Given the description of an element on the screen output the (x, y) to click on. 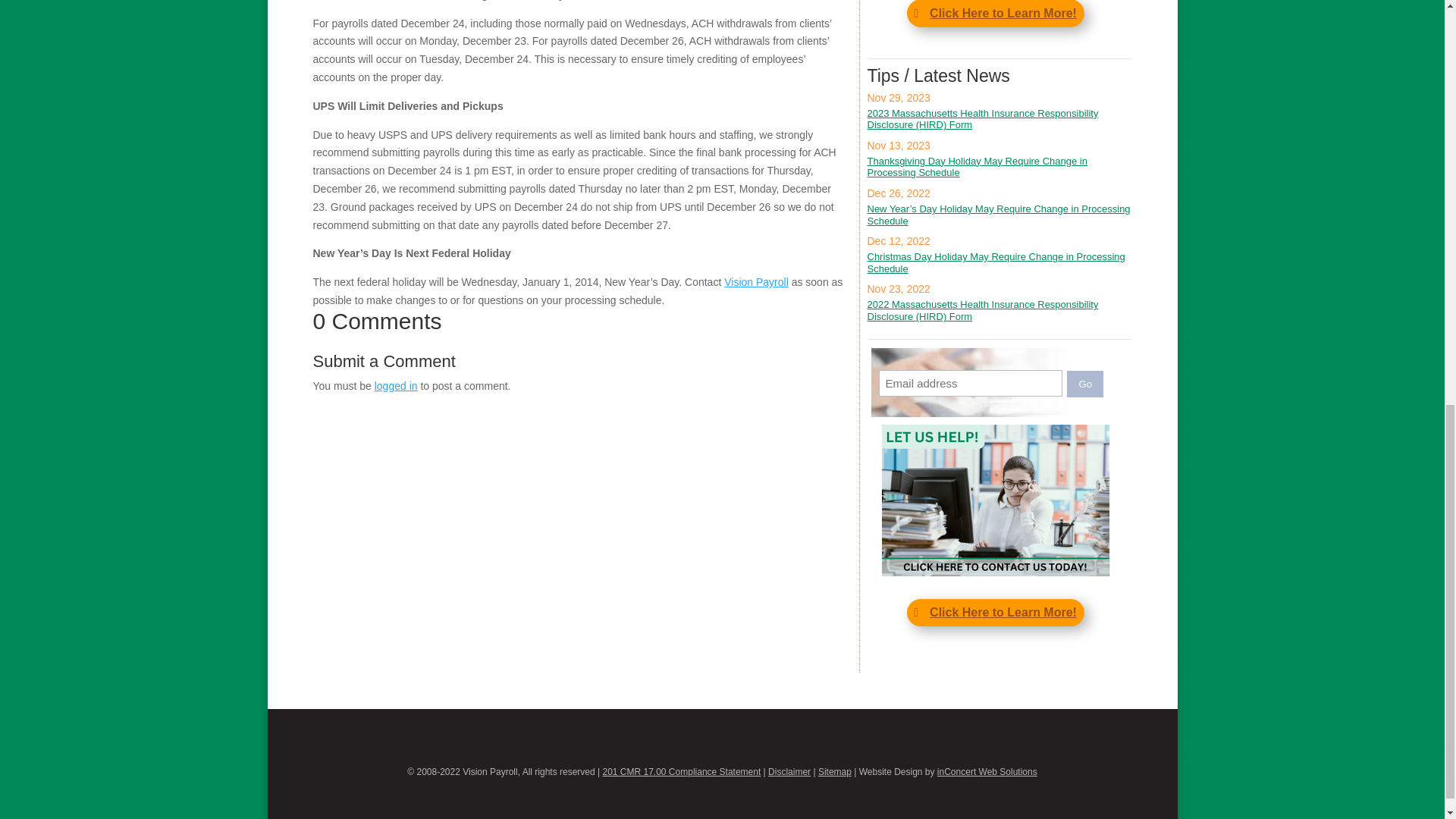
Go (1085, 383)
Vision Payroll - Let Us Help (995, 500)
